Given the description of an element on the screen output the (x, y) to click on. 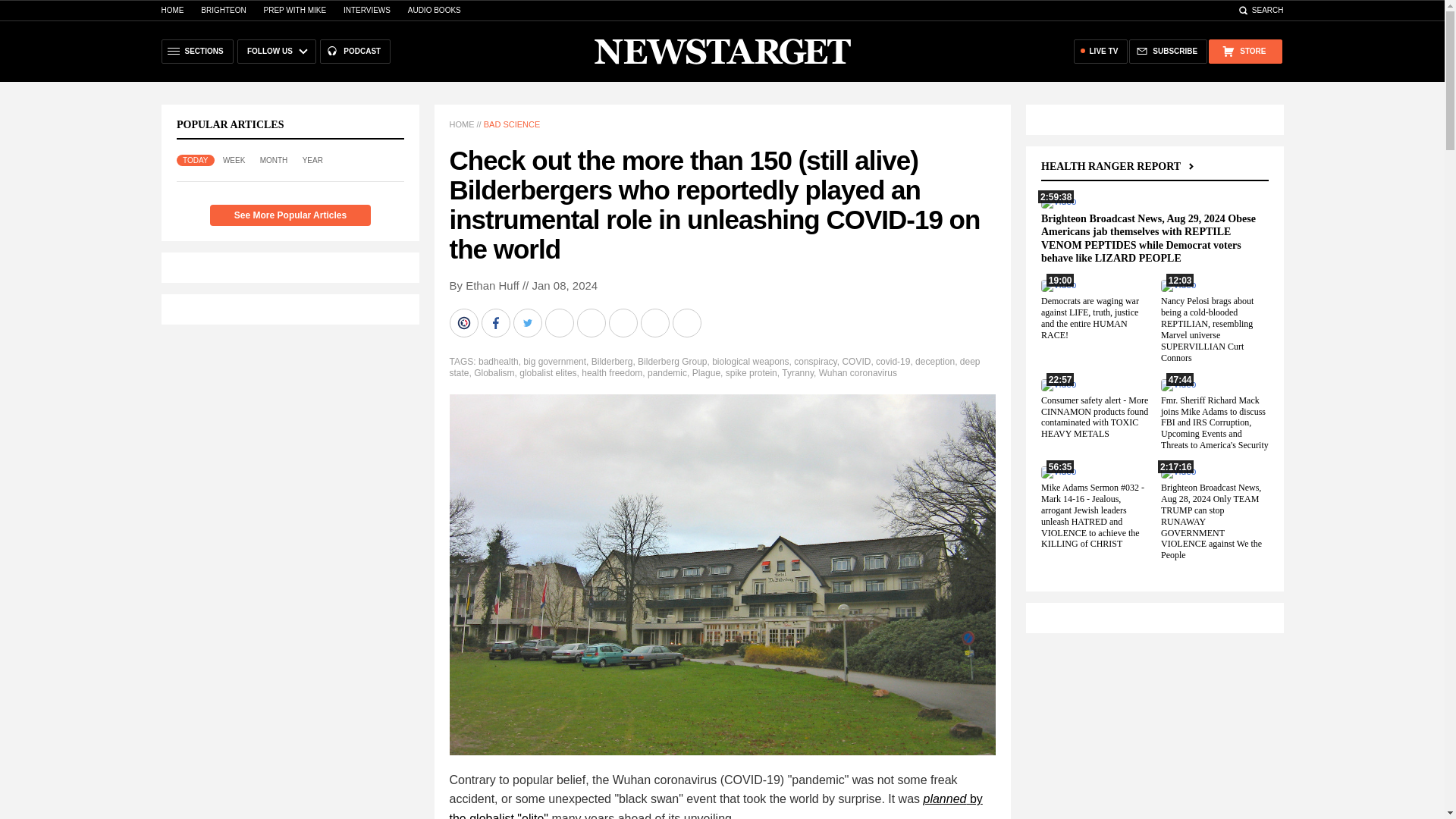
badhealth (498, 361)
By Ethan Huff (483, 285)
12:03 (1177, 285)
Share on GAB (592, 322)
SUBSCRIBE (1168, 51)
Share on Twitter (528, 322)
Share on Truth.Social (624, 322)
AUDIO BOOKS (434, 9)
More Share Options (687, 322)
